Given the description of an element on the screen output the (x, y) to click on. 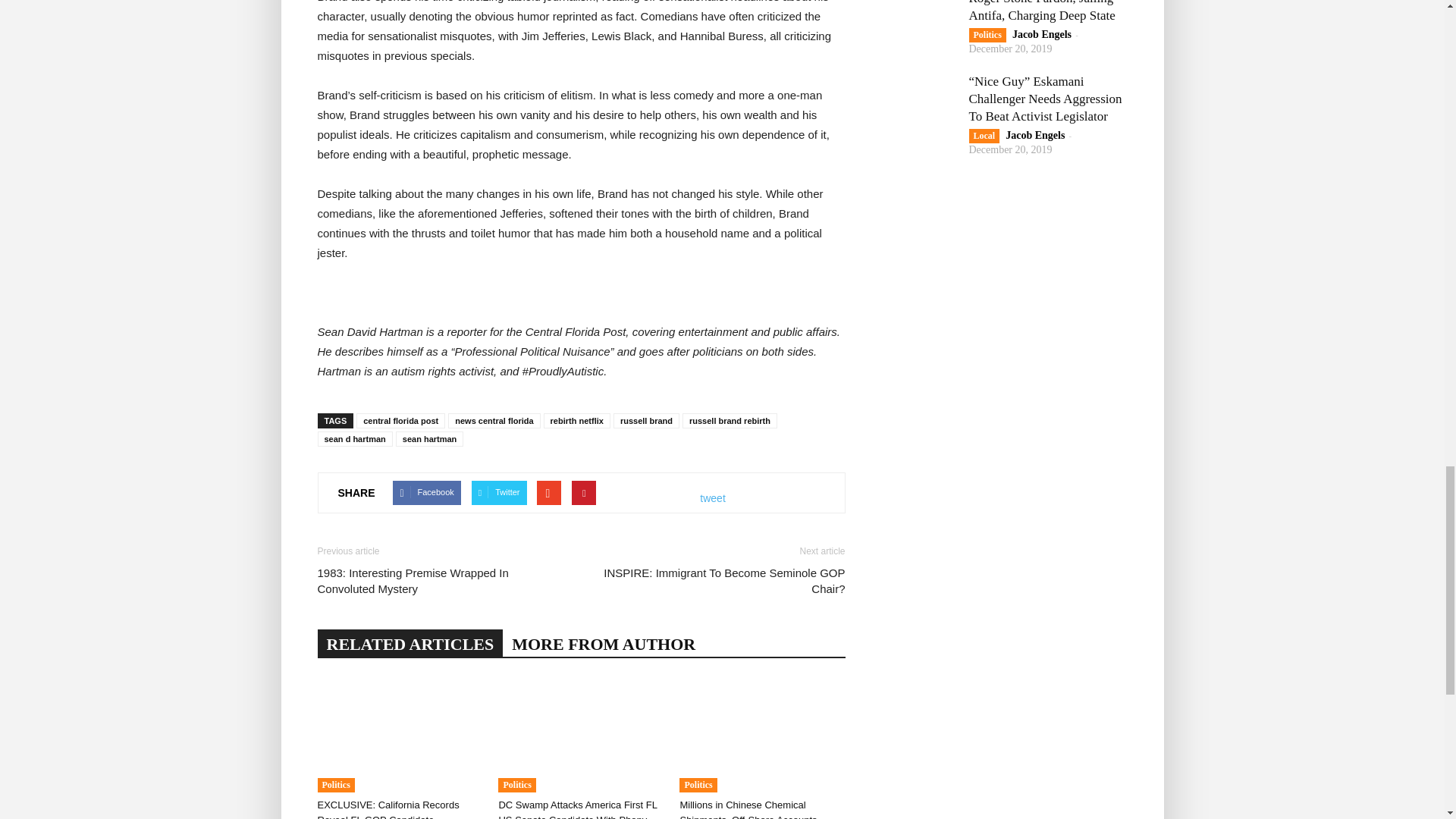
news central florida (494, 420)
rebirth netflix (576, 420)
russell brand (645, 420)
central florida post (400, 420)
